Given the description of an element on the screen output the (x, y) to click on. 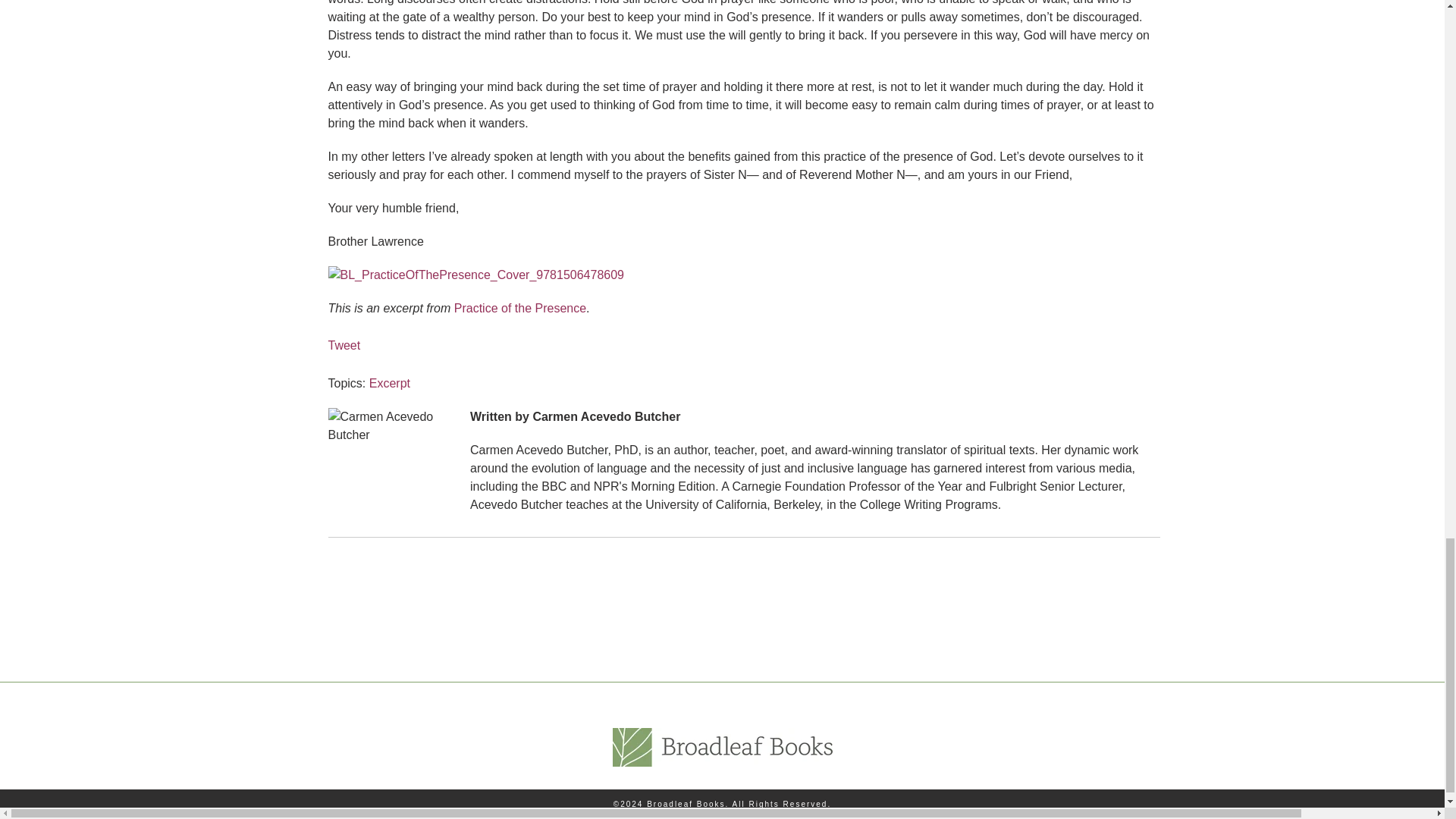
Carmen Acevedo Butcher (605, 416)
Excerpt (389, 382)
Tweet (343, 345)
Practice of the Presence (517, 308)
